Given the description of an element on the screen output the (x, y) to click on. 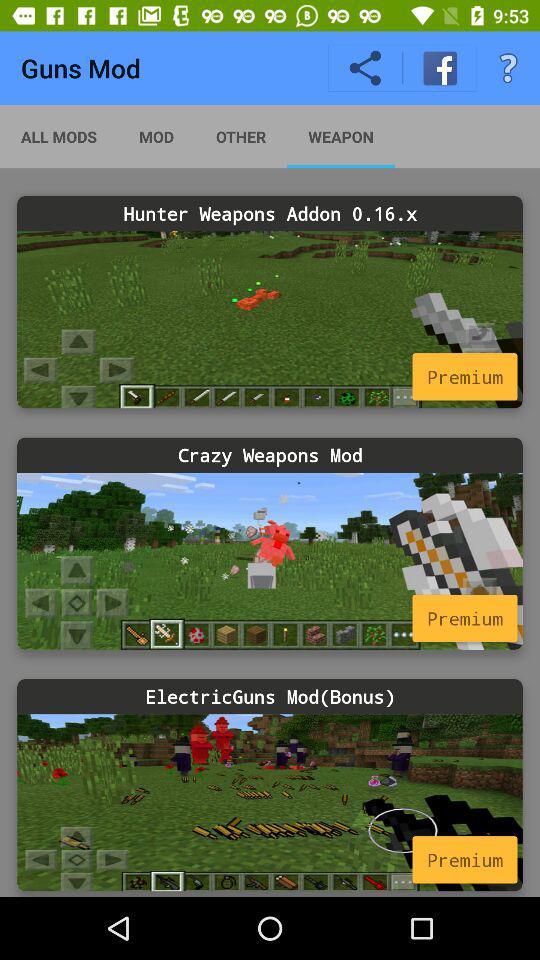
switch to crazy weapon mod (269, 560)
